Given the description of an element on the screen output the (x, y) to click on. 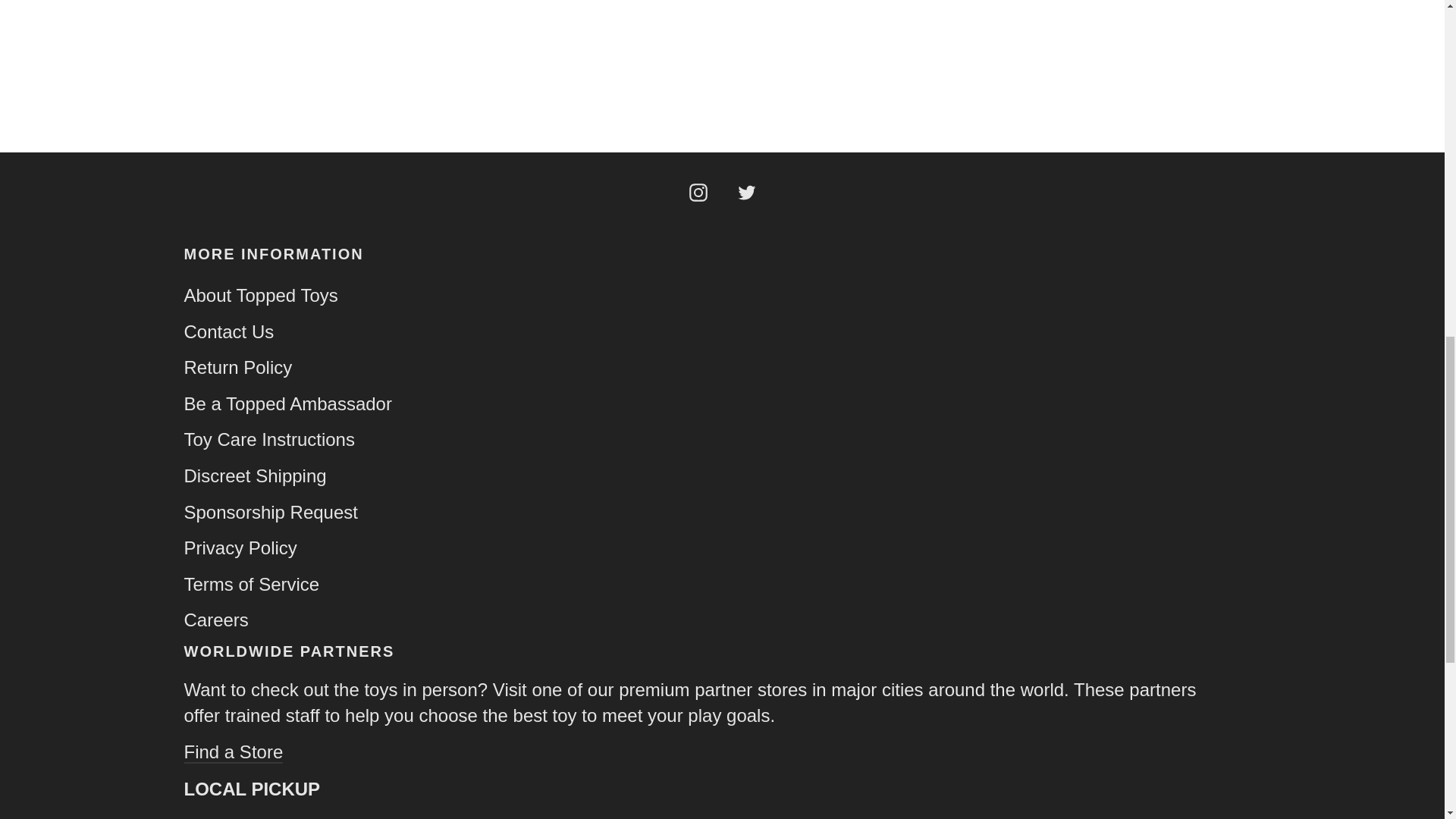
Topped Toys on Twitter (745, 191)
Topped Toys on Instagram (697, 191)
